Given the description of an element on the screen output the (x, y) to click on. 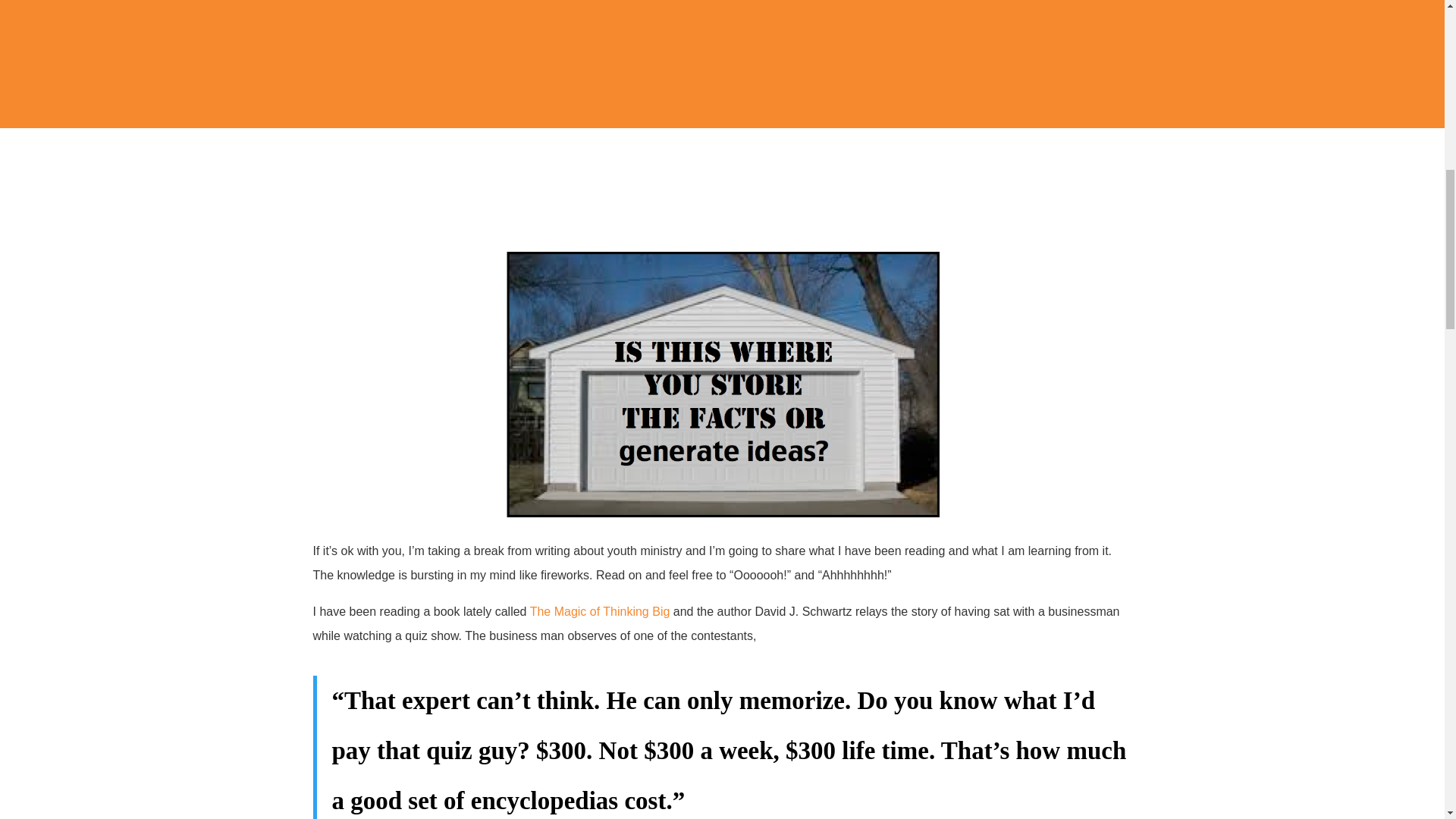
The Magic of Thinking Big (597, 615)
